Given the description of an element on the screen output the (x, y) to click on. 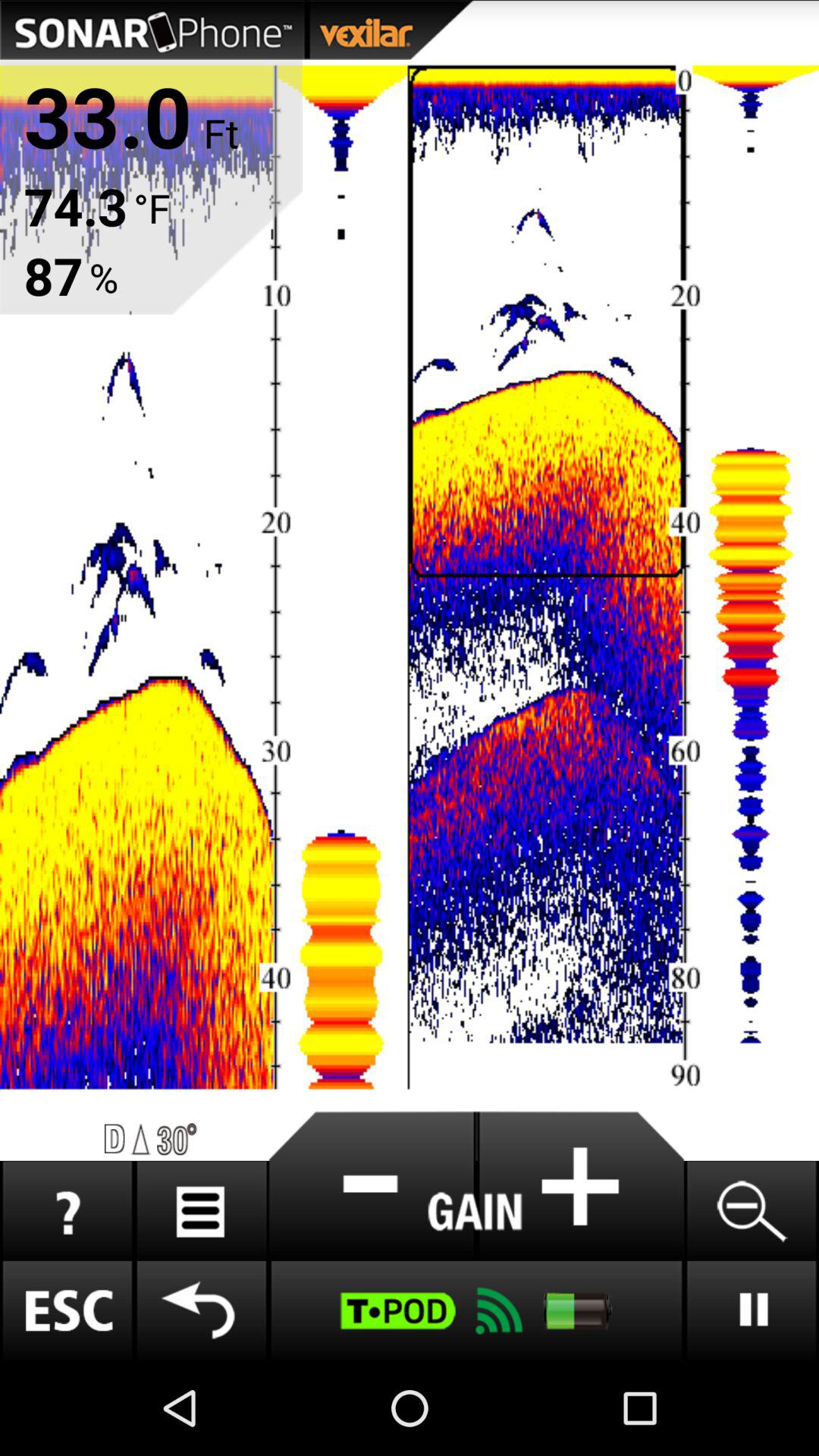
click to the zoom out (751, 1210)
